Given the description of an element on the screen output the (x, y) to click on. 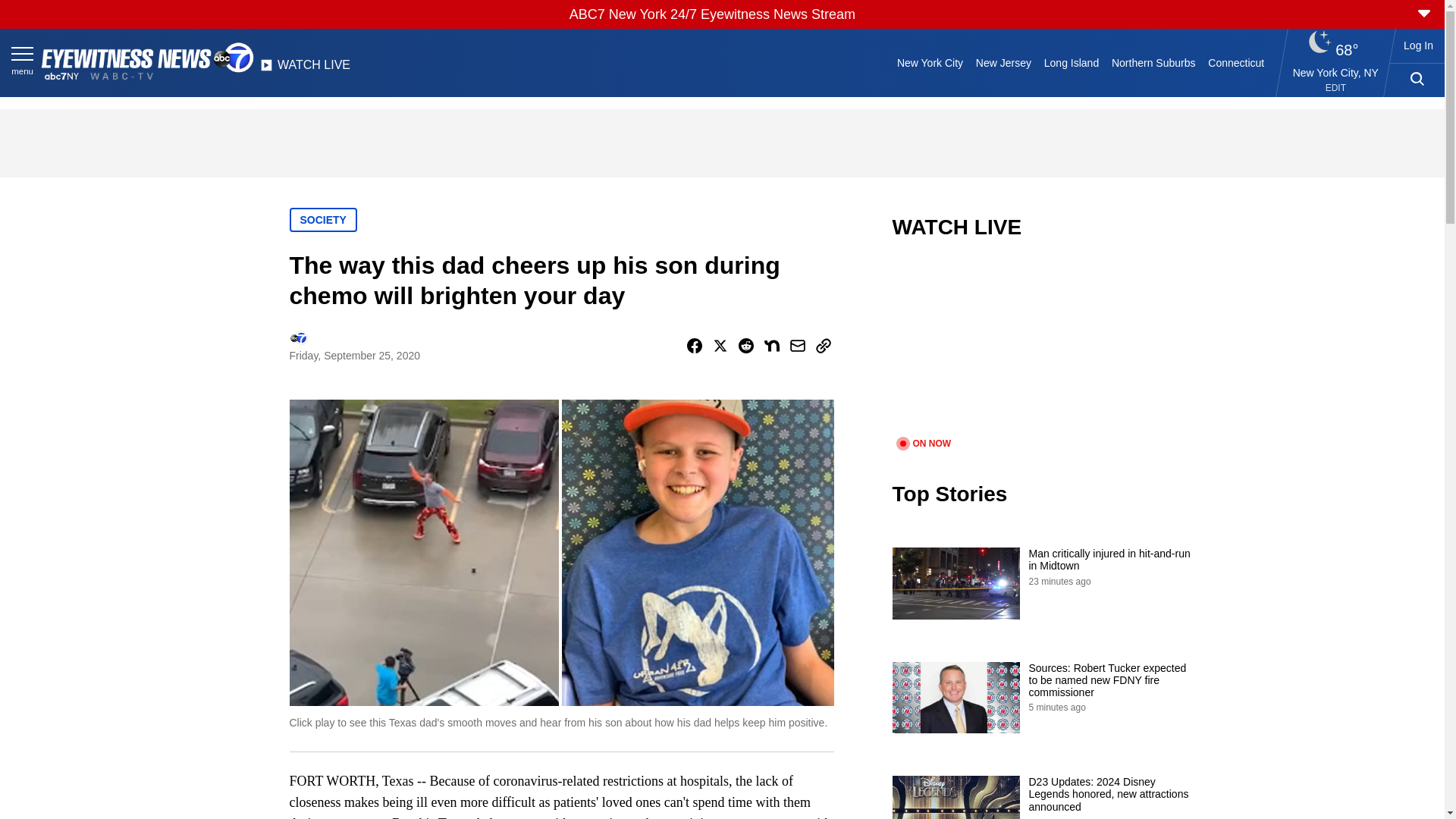
EDIT (1334, 87)
Northern Suburbs (1153, 62)
video.title (1043, 347)
Long Island (1070, 62)
New Jersey (1002, 62)
WATCH LIVE (305, 69)
New York City, NY (1335, 72)
New York City (930, 62)
Connecticut (1236, 62)
